Given the description of an element on the screen output the (x, y) to click on. 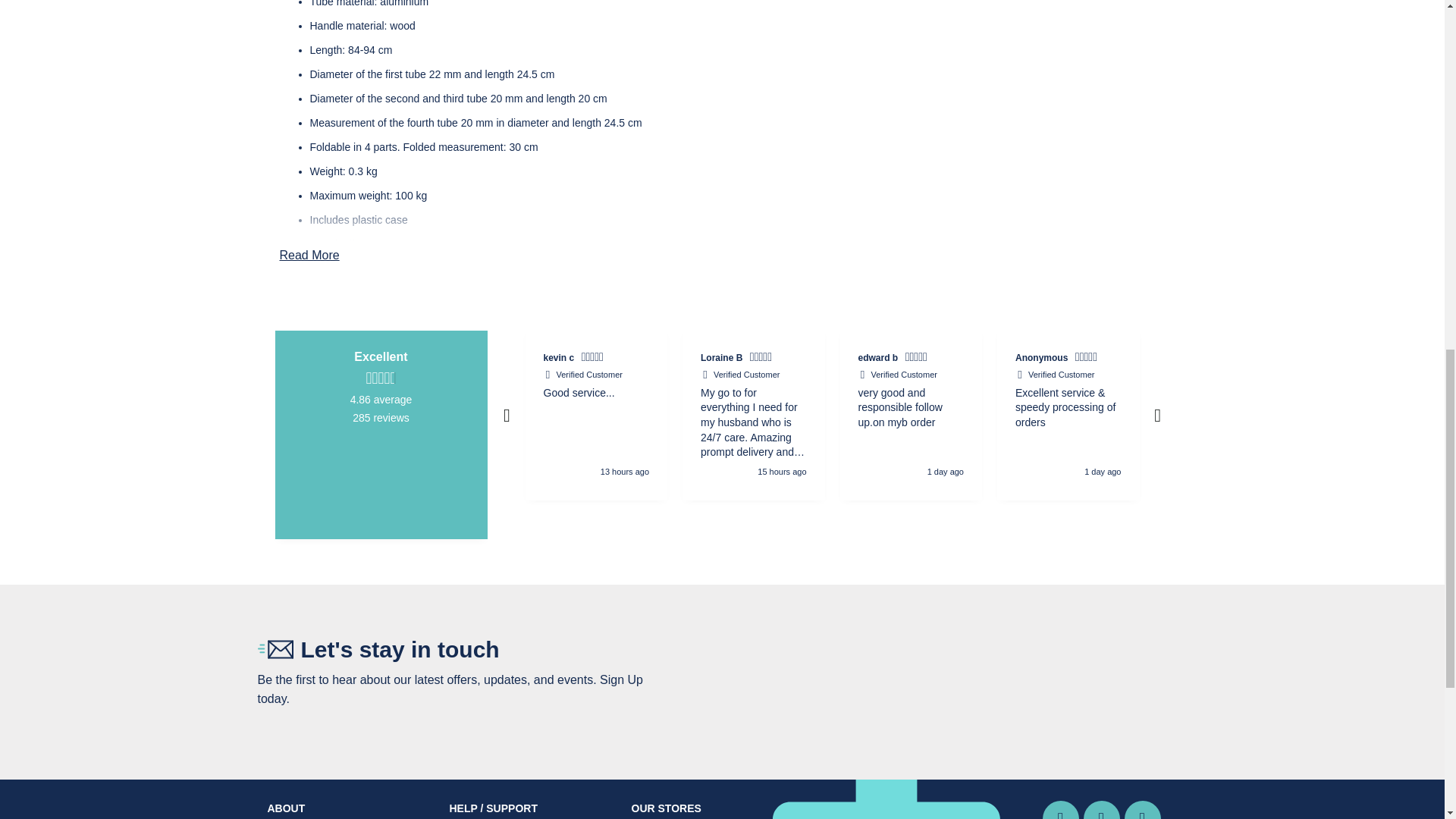
5 Stars (762, 358)
5 Stars (918, 358)
Read more reviews on REVIEWS.io (380, 474)
1 Stars (1374, 358)
4.86 Stars (380, 378)
5 Stars (1225, 358)
5 Stars (1087, 358)
5 Stars (593, 358)
